Given the description of an element on the screen output the (x, y) to click on. 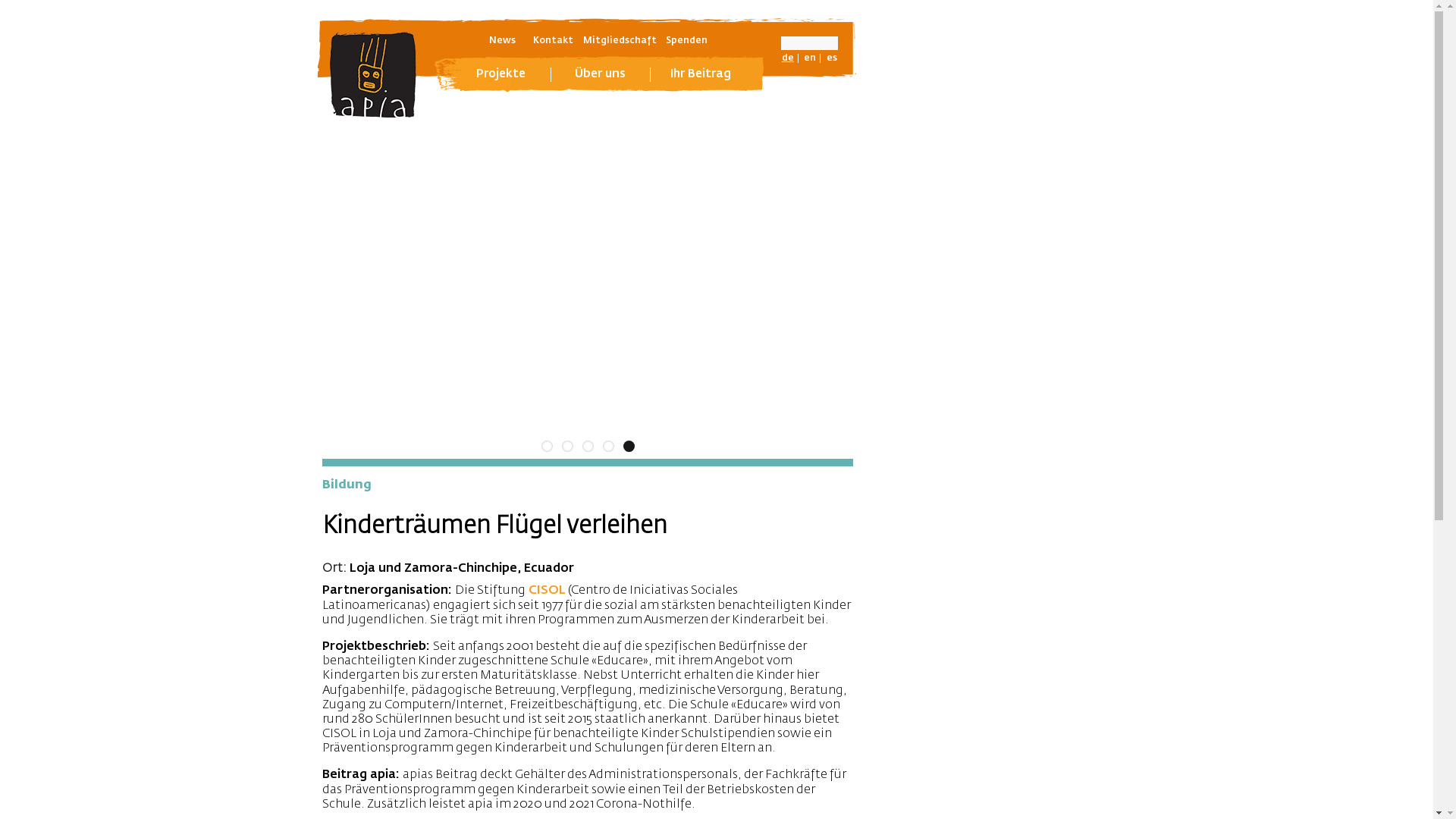
Spenden Element type: text (686, 40)
2 Element type: text (566, 445)
es Element type: text (831, 57)
Mitgliedschaft Element type: text (618, 40)
4 Element type: text (607, 445)
3 Element type: text (587, 445)
en Element type: text (809, 57)
de Element type: text (787, 57)
1 Element type: text (546, 445)
Ihr Beitrag Element type: text (700, 74)
5 Element type: text (628, 445)
Direkt zum Inhalt Element type: text (0, 0)
CISOL Element type: text (546, 590)
Projekte Element type: text (501, 74)
Suche Element type: text (30, 14)
Kontakt Element type: text (553, 40)
News Element type: text (502, 40)
